Given the description of an element on the screen output the (x, y) to click on. 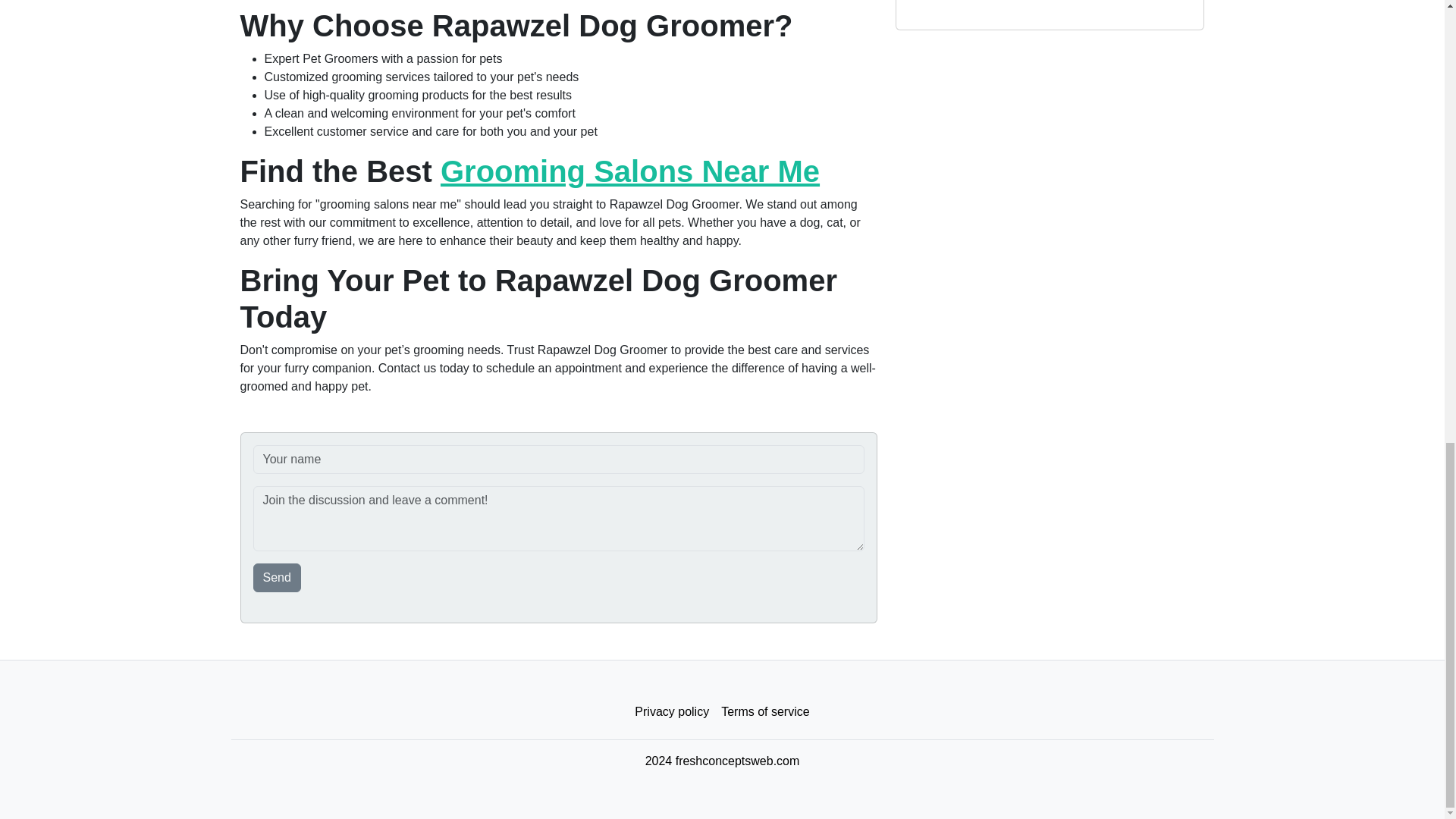
Send (277, 577)
Send (277, 577)
Privacy policy (671, 711)
Terms of service (764, 711)
Grooming Salons Near Me (630, 171)
